Given the description of an element on the screen output the (x, y) to click on. 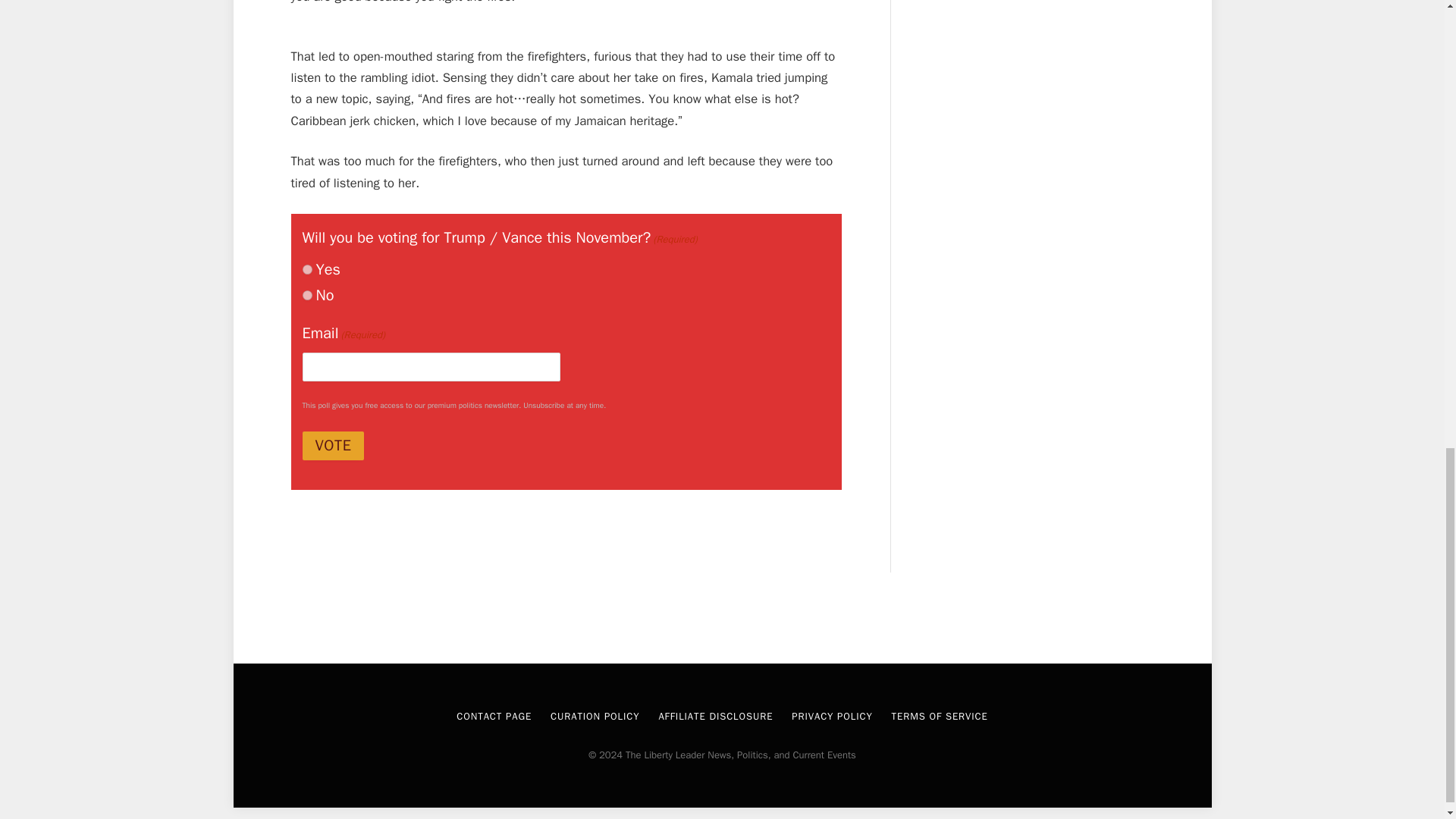
gpoll1b5b3d8f6 (306, 269)
VOTE (332, 445)
VOTE (332, 445)
gpoll1b2a53ce5 (306, 295)
CURATION POLICY (594, 716)
CONTACT PAGE (494, 716)
TERMS OF SERVICE (939, 716)
AFFILIATE DISCLOSURE (715, 716)
PRIVACY POLICY (832, 716)
